Given the description of an element on the screen output the (x, y) to click on. 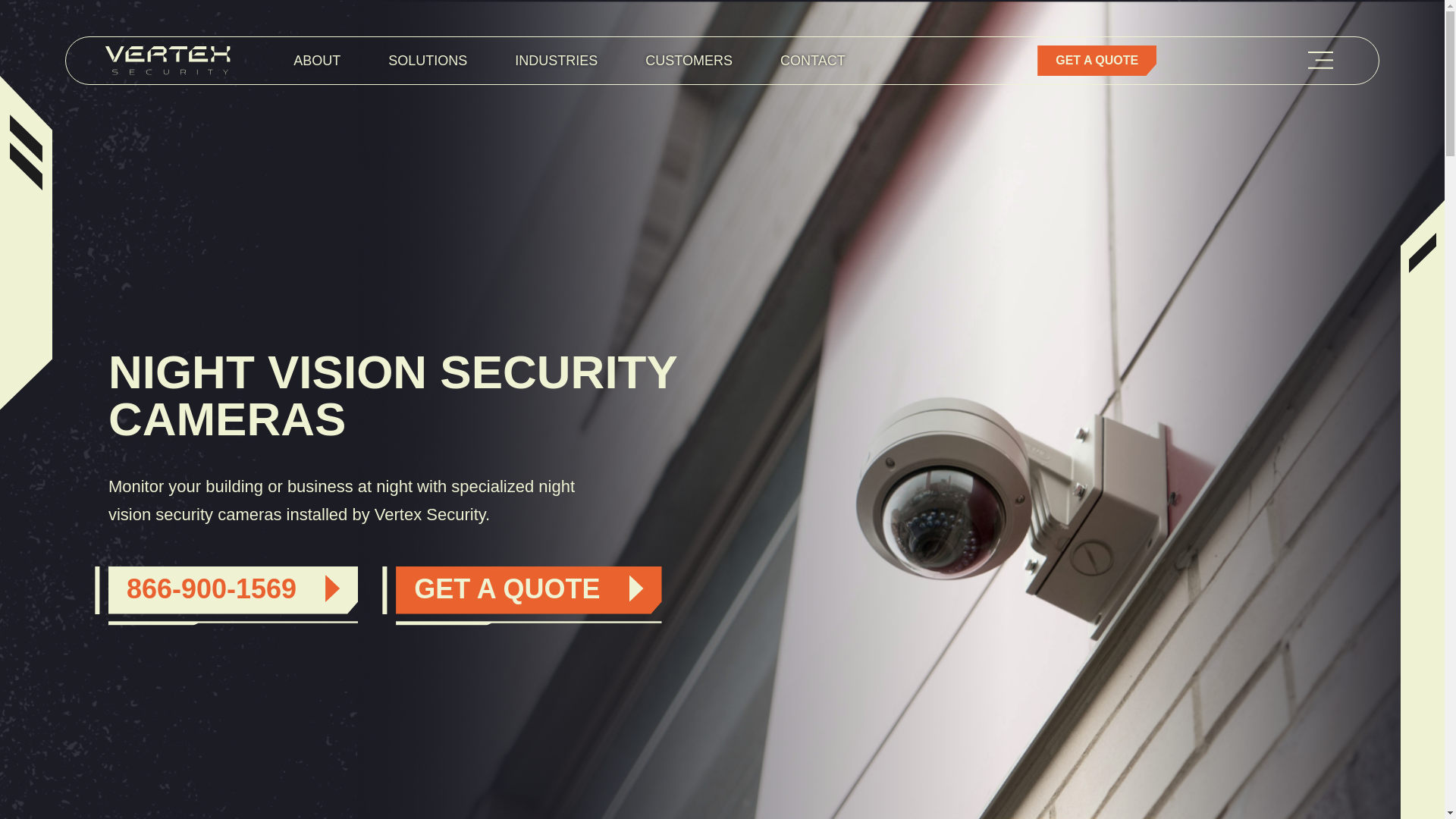
GET A QUOTE (1096, 60)
CONTACT (812, 60)
CUSTOMERS (688, 60)
GET A QUOTE (528, 589)
866-900-1569 (232, 589)
SOLUTIONS (427, 60)
ABOUT (317, 60)
INDUSTRIES (555, 60)
